Given the description of an element on the screen output the (x, y) to click on. 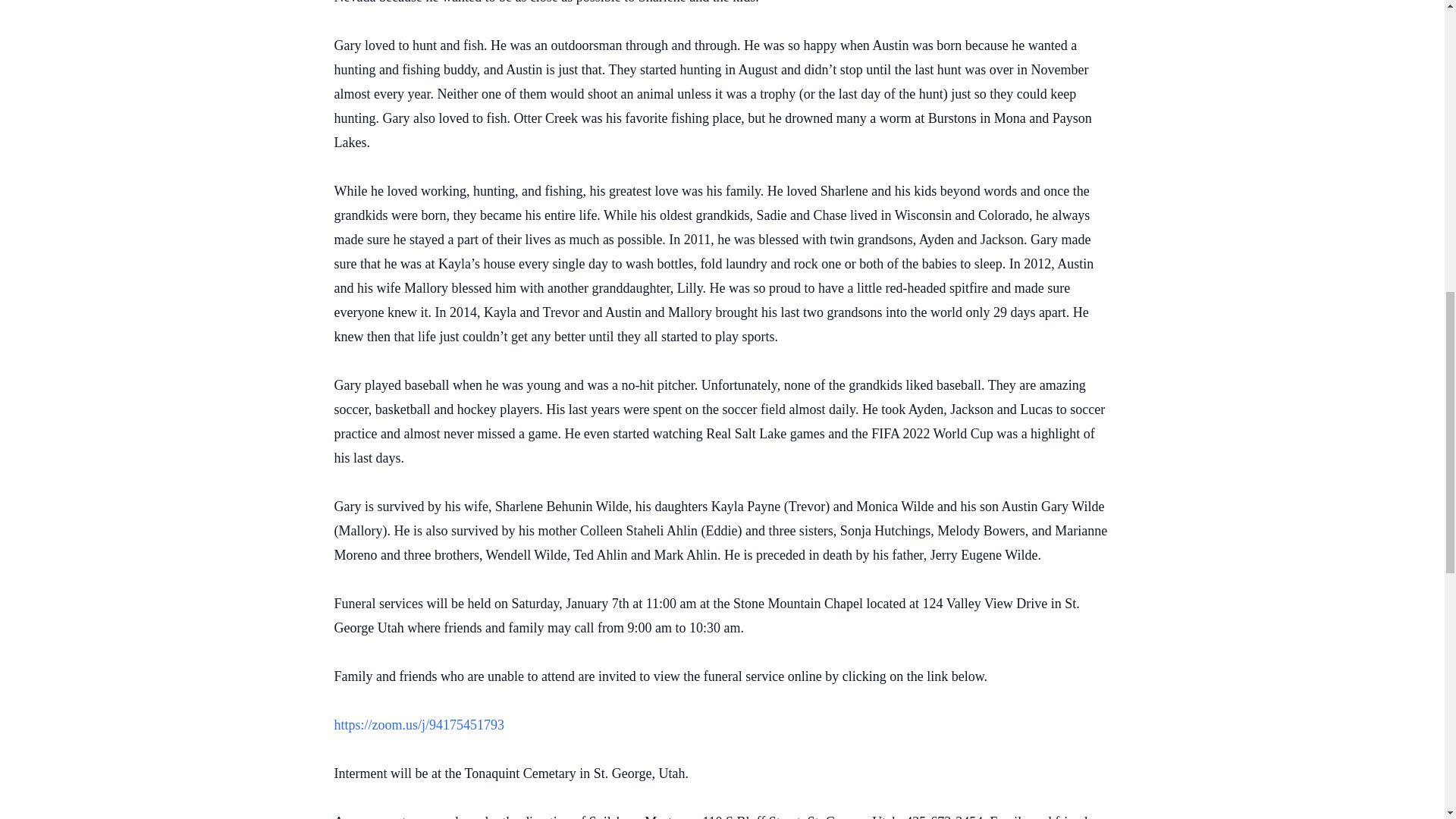
Click to open in a new window or tab (418, 724)
